Given the description of an element on the screen output the (x, y) to click on. 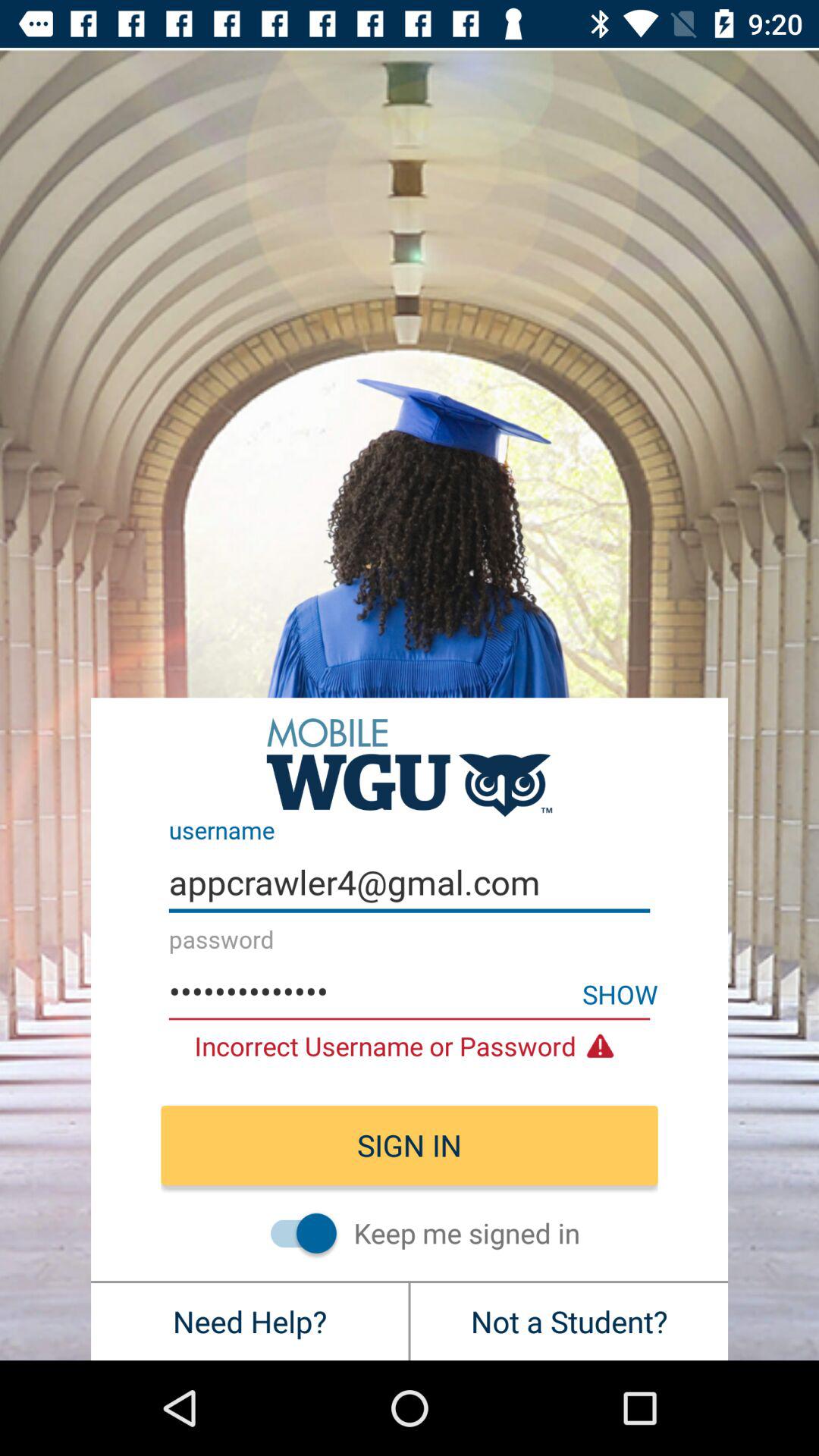
select the icon next to keep me signed (295, 1232)
